Given the description of an element on the screen output the (x, y) to click on. 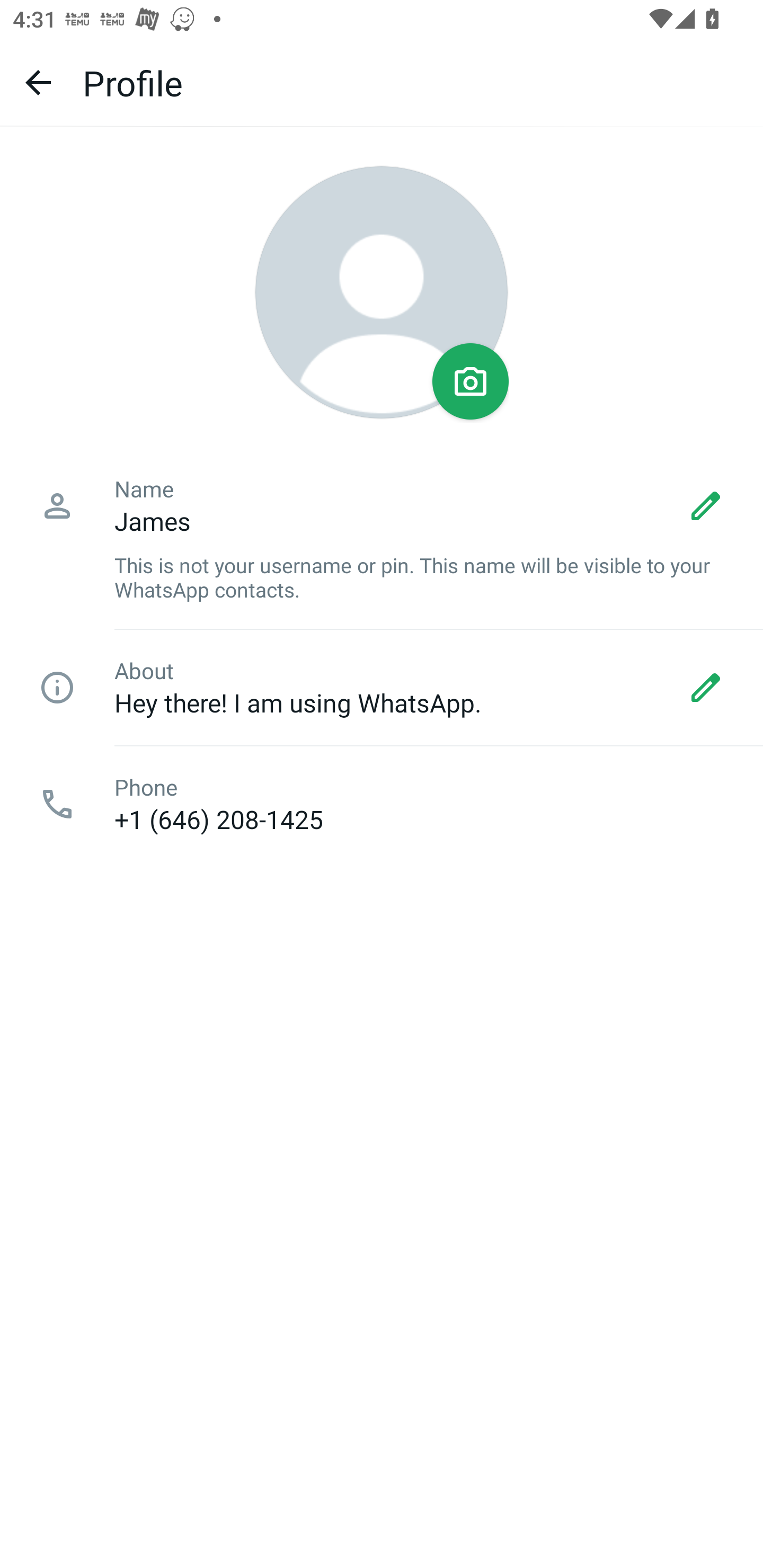
Navigate up (38, 82)
Profile photo (381, 292)
Edit photo (470, 381)
About Hey there! I am using WhatsApp. (381, 687)
Phone +1 (646) 208-1425 (381, 804)
